Given the description of an element on the screen output the (x, y) to click on. 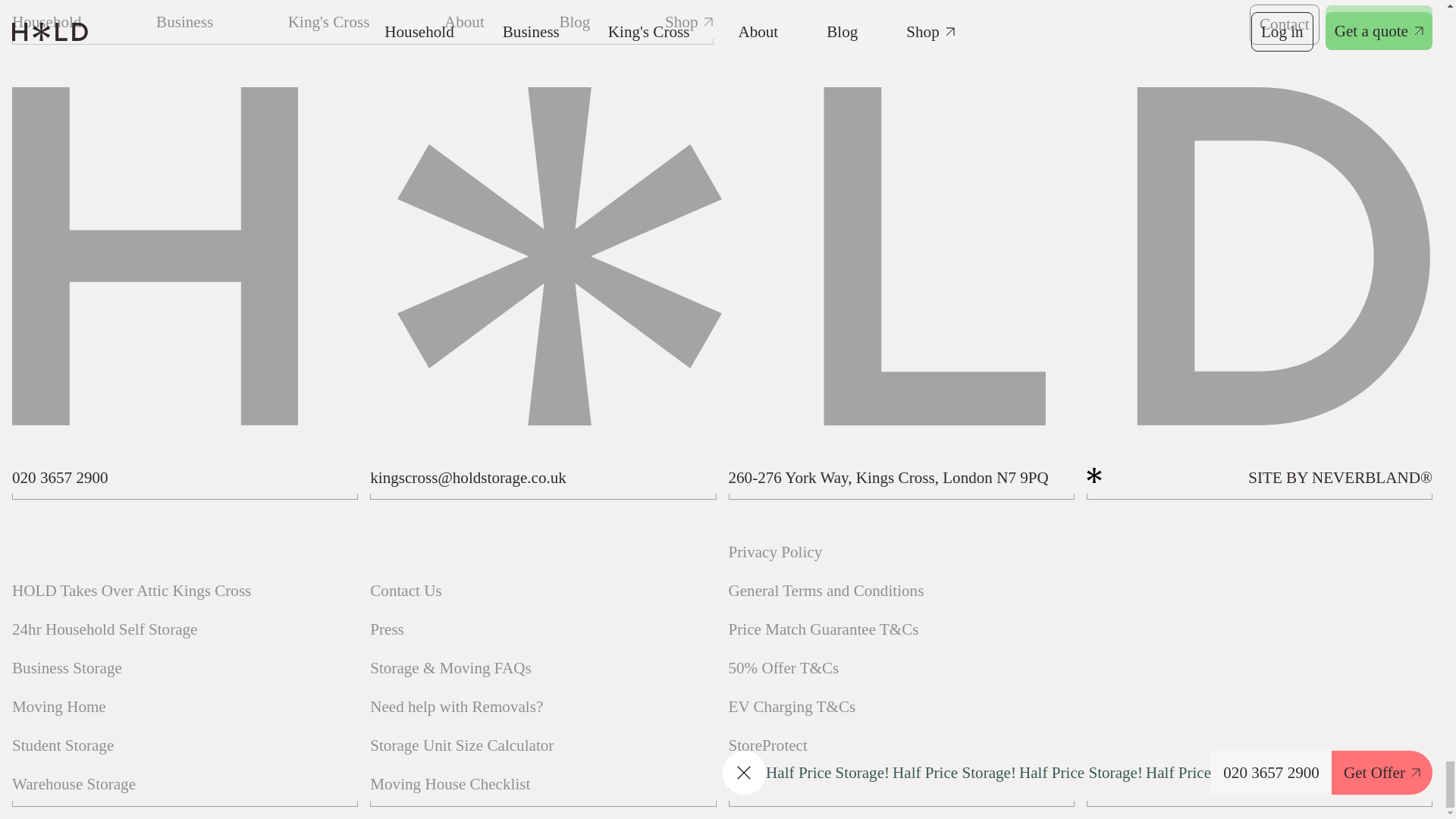
Contact (1284, 24)
